Given the description of an element on the screen output the (x, y) to click on. 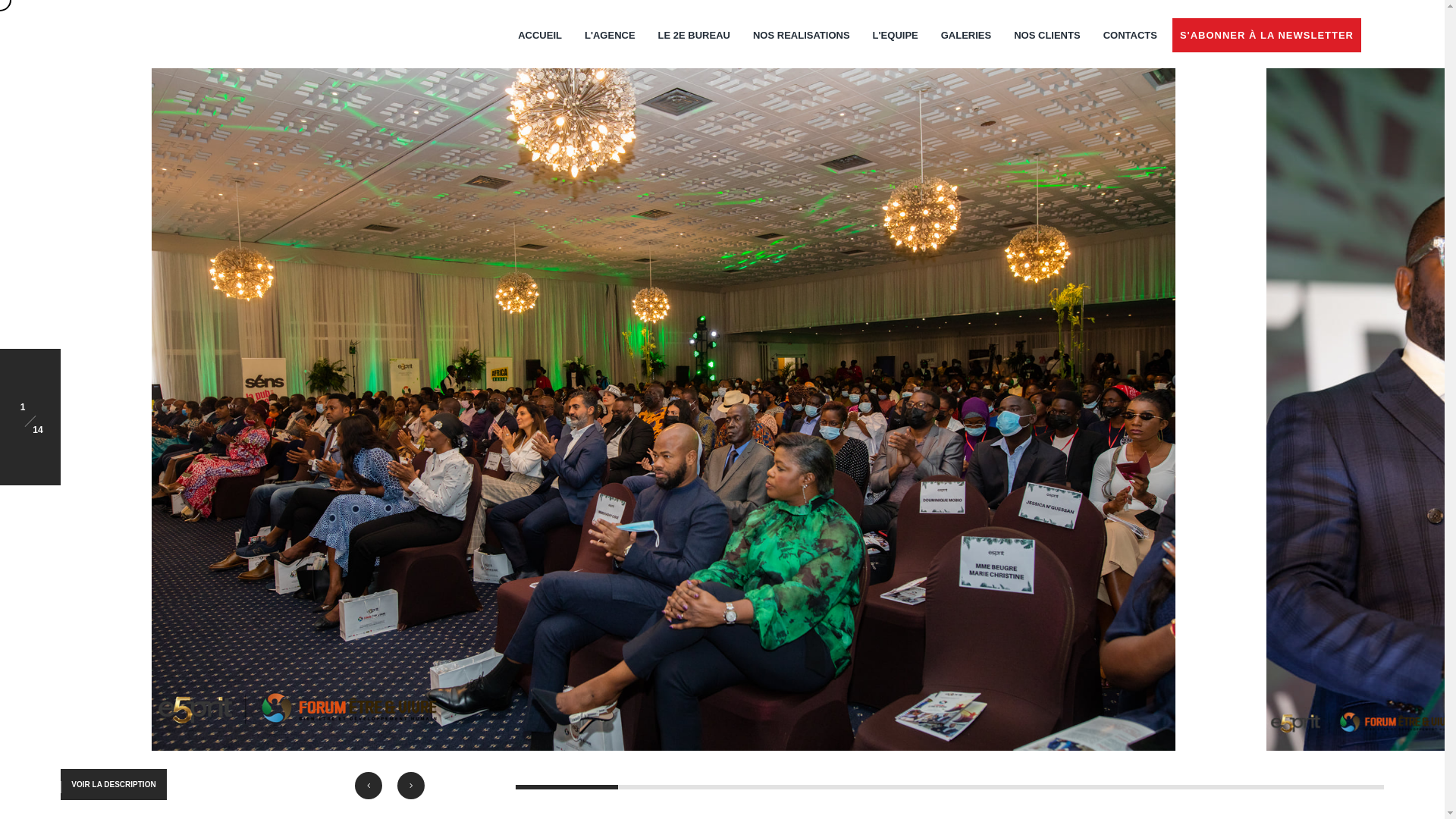
ACCUEIL Element type: text (539, 35)
CONTACTS Element type: text (1129, 35)
NOS REALISATIONS Element type: text (801, 35)
L'EQUIPE Element type: text (895, 35)
GALERIES Element type: text (965, 35)
NOS CLIENTS Element type: text (1046, 35)
L'AGENCE Element type: text (610, 35)
LE 2E BUREAU Element type: text (693, 35)
